Given the description of an element on the screen output the (x, y) to click on. 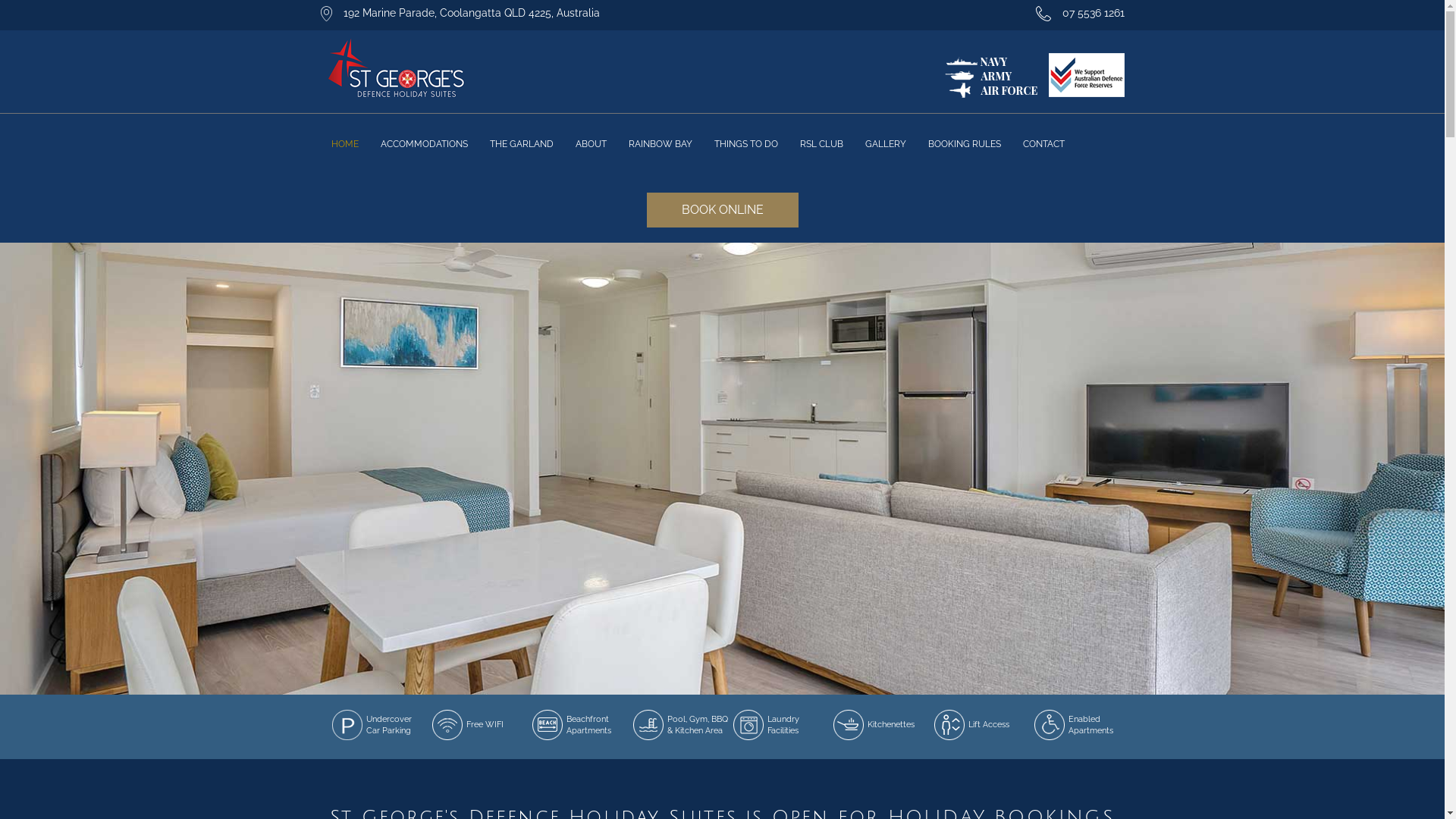
ABOUT Element type: text (590, 143)
THE GARLAND Element type: text (521, 143)
logo-support-australian-defence-force-reserves Element type: hover (1034, 75)
HOME Element type: text (344, 143)
RAINBOW BAY Element type: text (659, 143)
ACCOMMODATIONS Element type: text (424, 143)
BOOKING RULES Element type: text (964, 143)
07 5536 1261 Element type: text (1092, 12)
192 Marine Parade, Coolangatta QLD 4225, Australia Element type: text (470, 12)
RSL CLUB Element type: text (820, 143)
CONTACT Element type: text (1042, 143)
st-georges-defence-holiday-suites-07 Element type: hover (722, 467)
logo-st-georges-defence-holiday-suites Element type: hover (395, 69)
GALLERY Element type: text (884, 143)
BOOK ONLINE Element type: text (721, 209)
THINGS TO DO Element type: text (745, 143)
